Given the description of an element on the screen output the (x, y) to click on. 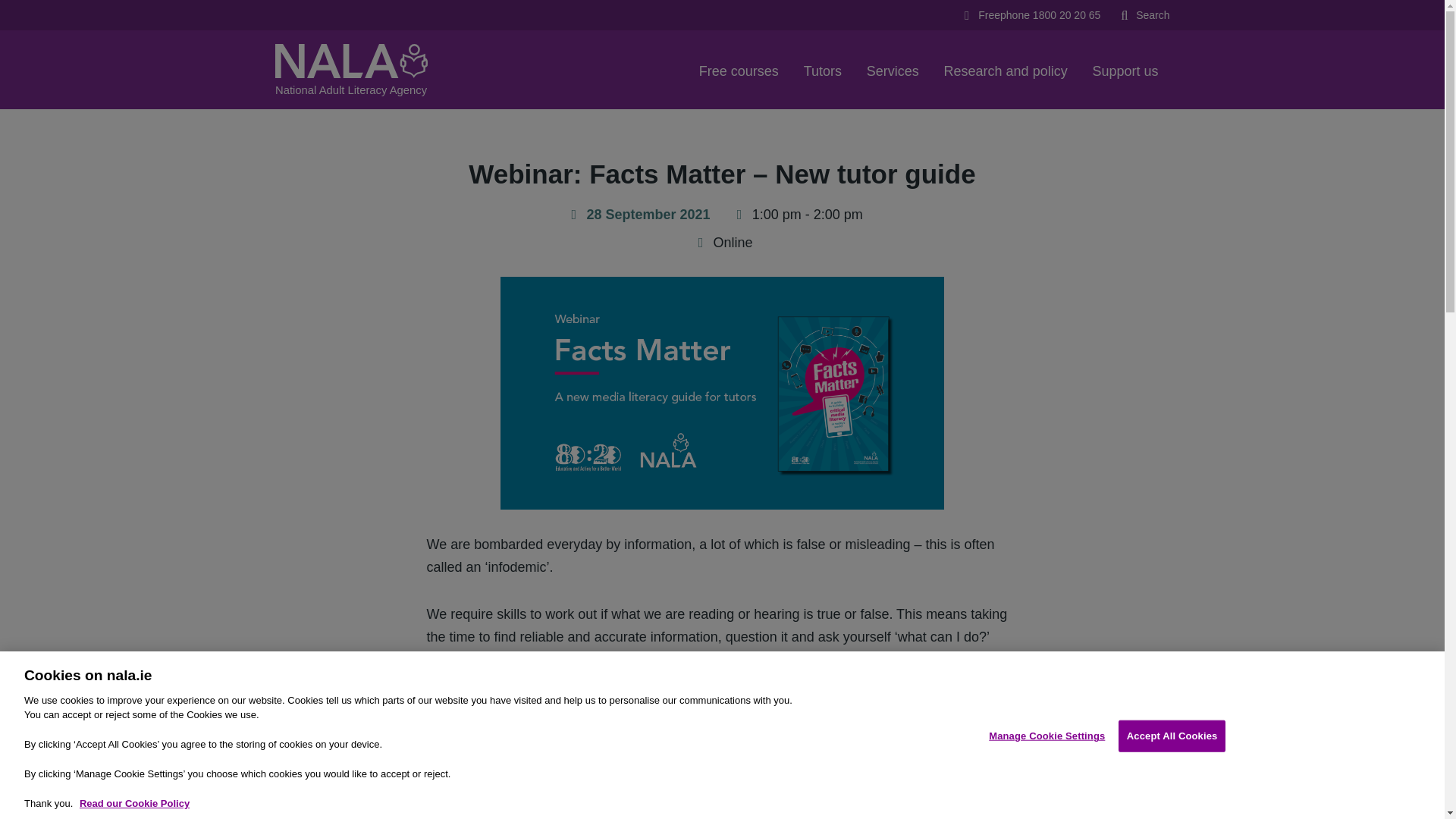
Services (893, 69)
Free courses (738, 69)
Free courses (738, 69)
Search (1143, 15)
Services (893, 69)
Freephone 1800 20 20 65 (1029, 15)
